Given the description of an element on the screen output the (x, y) to click on. 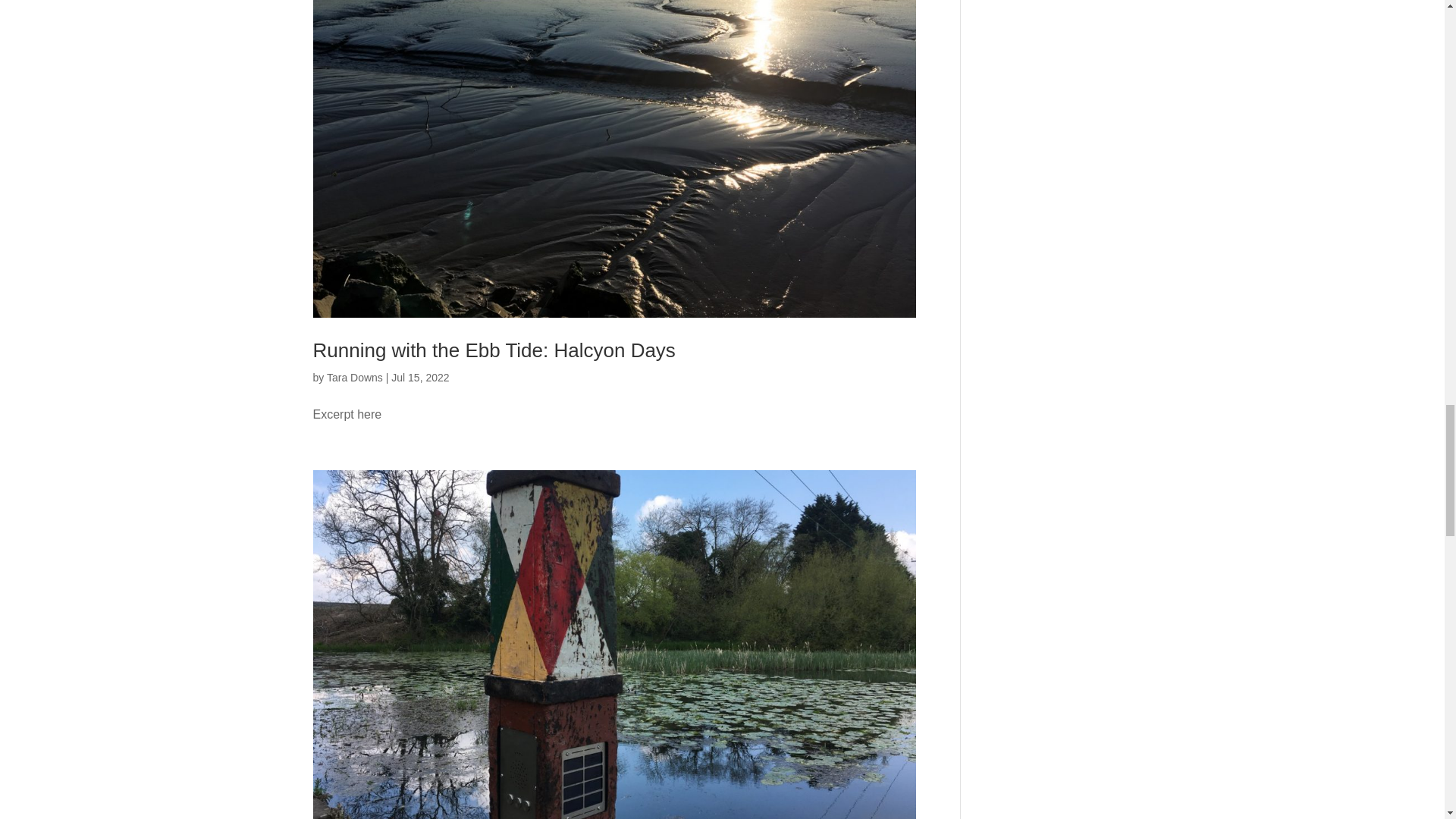
Tara Downs (354, 377)
Running with the Ebb Tide: Halcyon Days (494, 350)
Posts by Tara Downs (354, 377)
